Given the description of an element on the screen output the (x, y) to click on. 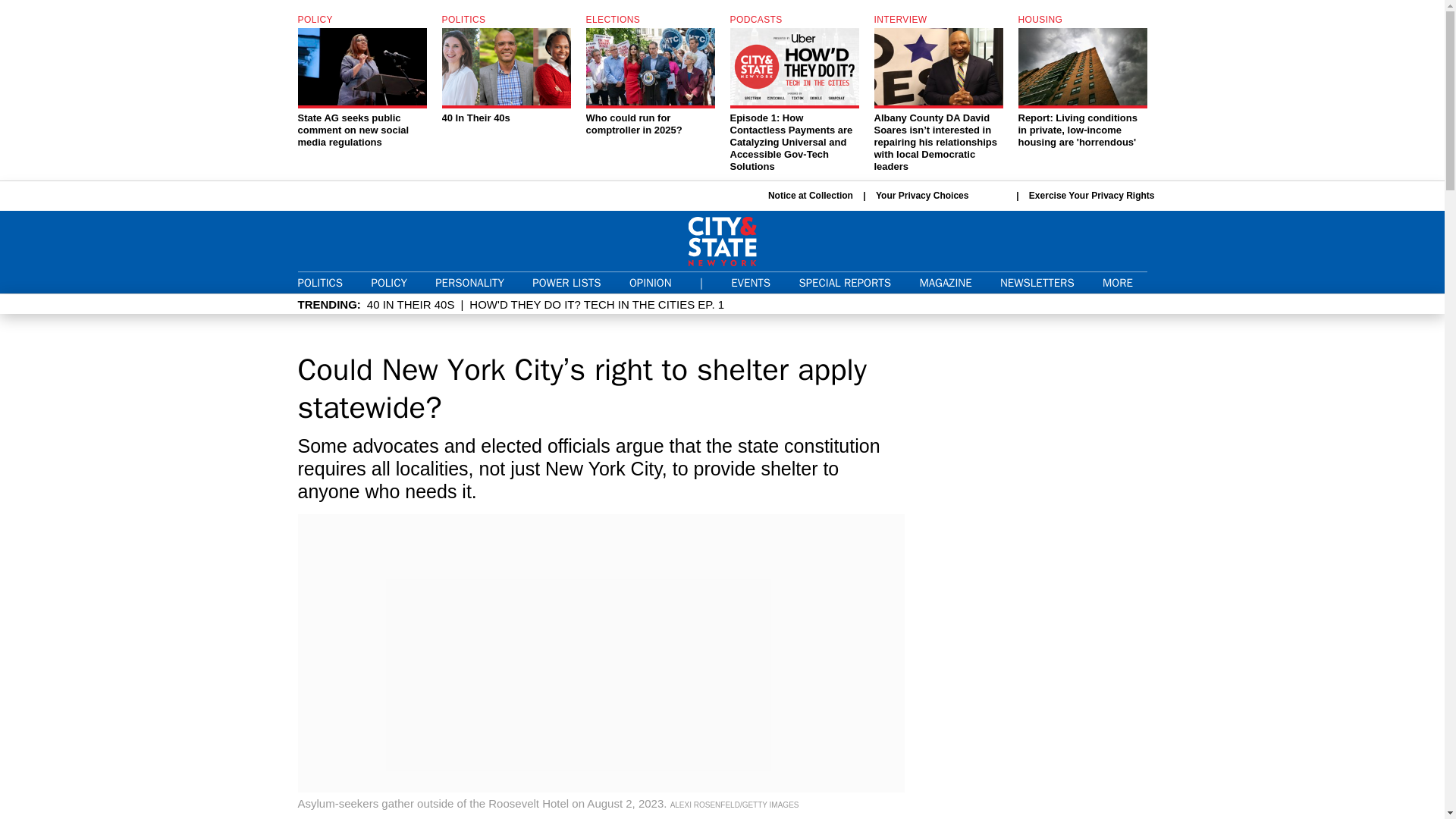
EVENTS (750, 282)
PERSONALITY (469, 282)
POLICY (505, 69)
SPECIAL REPORTS (388, 282)
POLITICS (844, 282)
MORE (319, 282)
Exercise Your Privacy Rights (1124, 283)
POWER LISTS (1091, 195)
OPINION (565, 282)
NEWSLETTERS (649, 282)
Notice at Collection (1037, 282)
